Given the description of an element on the screen output the (x, y) to click on. 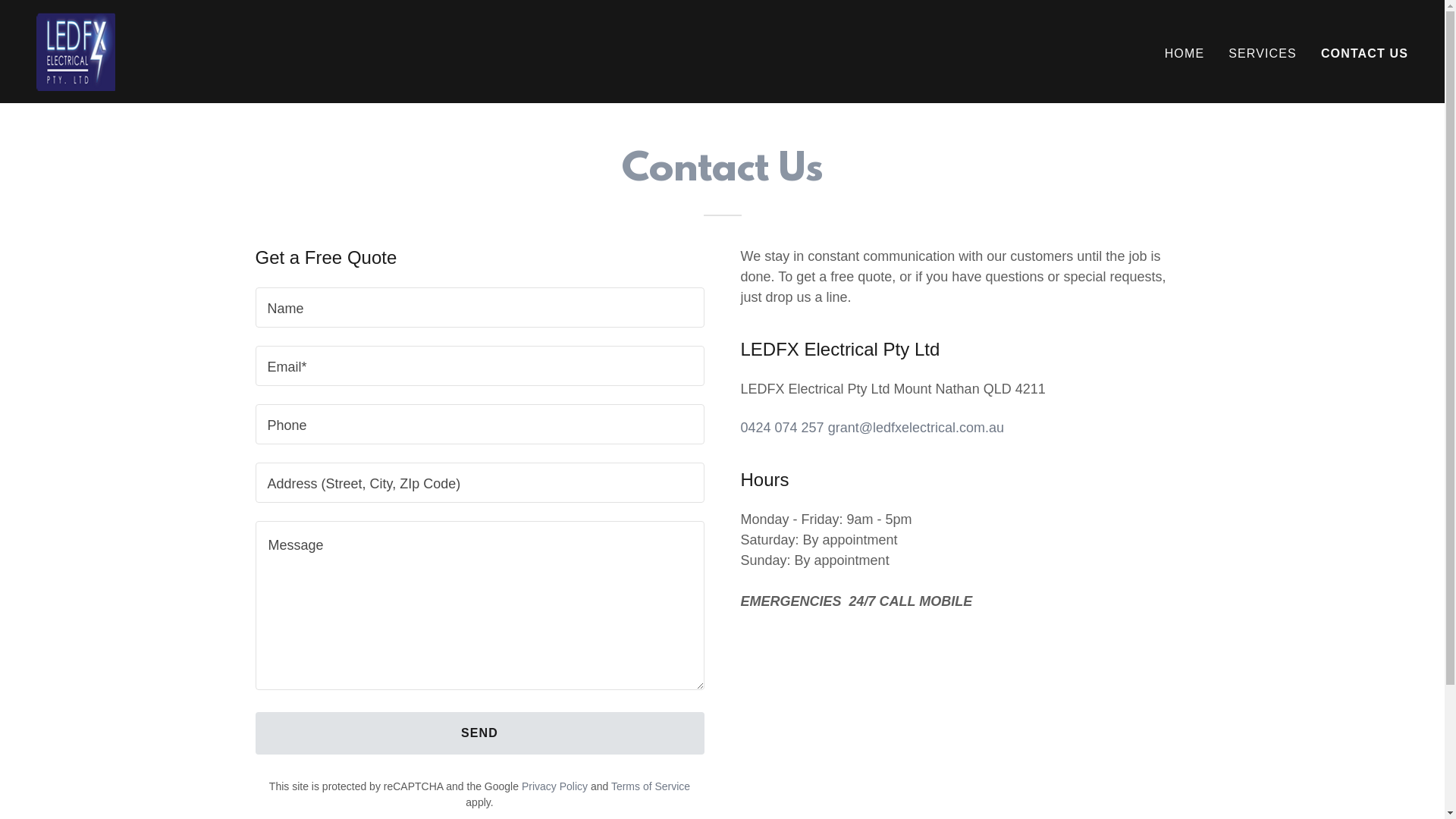
Terms of Service Element type: text (650, 786)
0424 074 257 Element type: text (781, 427)
LEDFX Electrical Pty Ltd Element type: hover (75, 50)
HOME Element type: text (1184, 52)
Privacy Policy Element type: text (554, 786)
SERVICES Element type: text (1262, 52)
CONTACT US Element type: text (1364, 52)
SEND Element type: text (478, 733)
grant@ledfxelectrical.com.au Element type: text (916, 427)
